Given the description of an element on the screen output the (x, y) to click on. 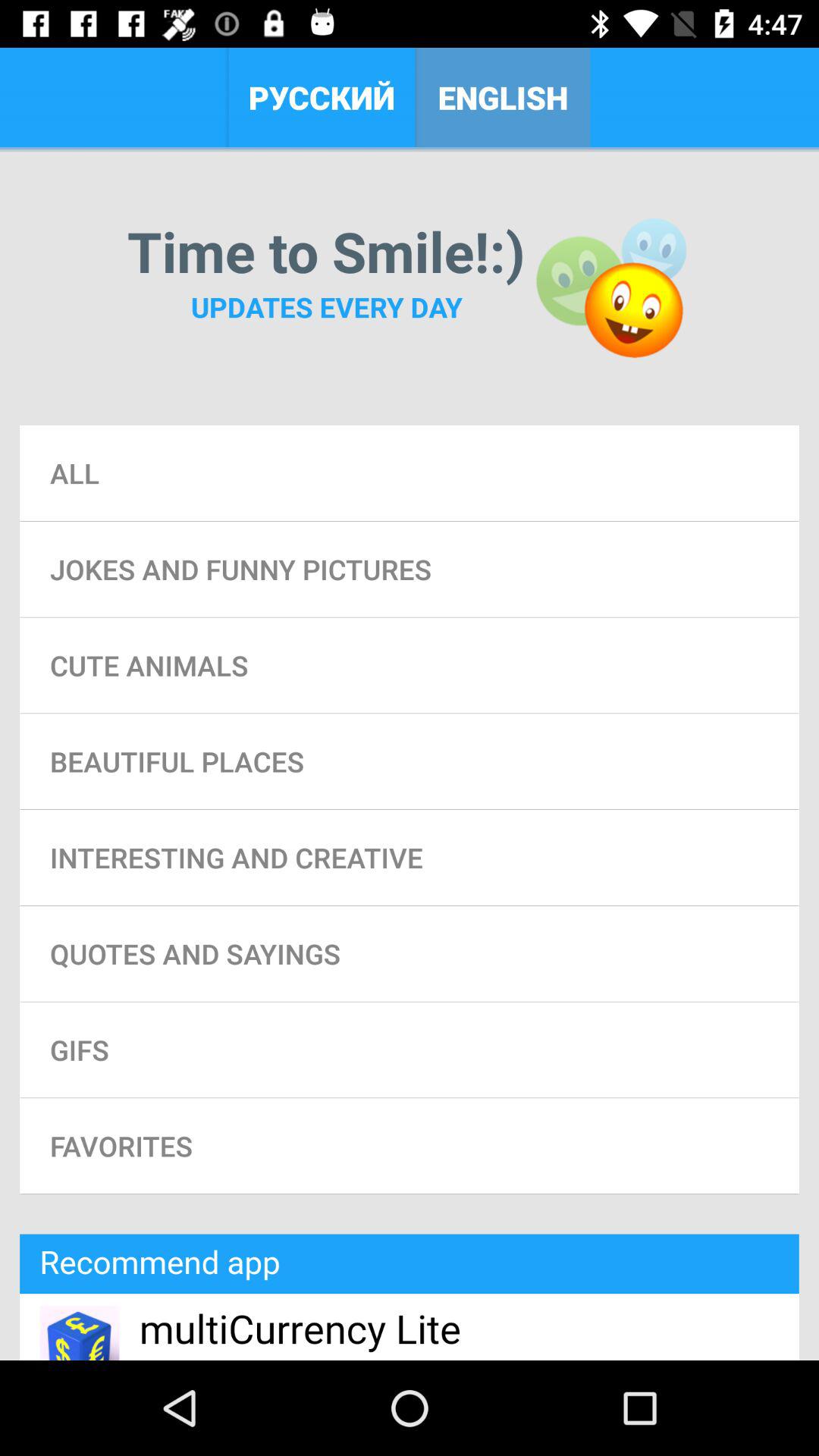
turn off jokes and funny (409, 569)
